Given the description of an element on the screen output the (x, y) to click on. 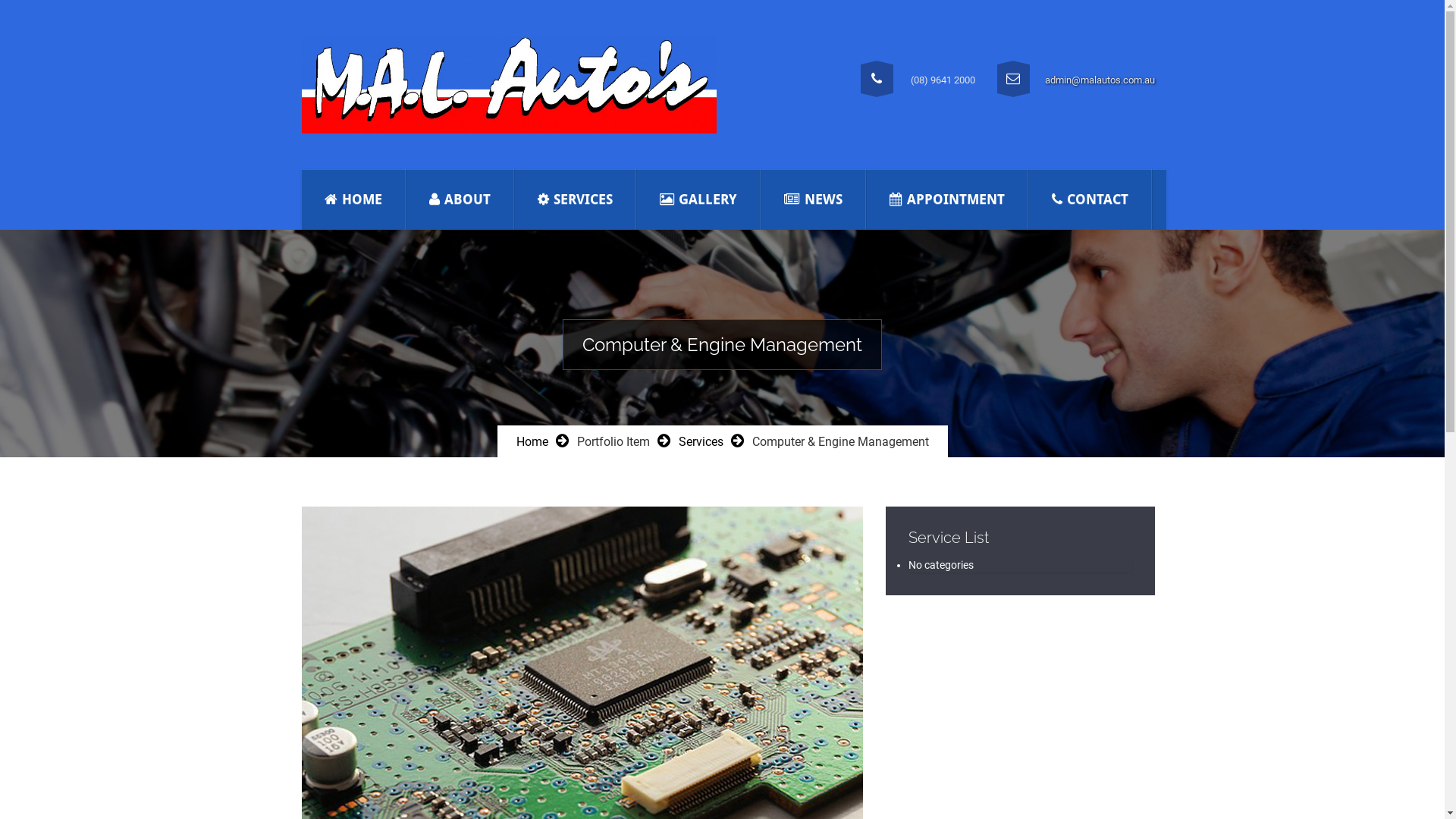
NEWS Element type: text (813, 199)
CONTACT Element type: text (1089, 199)
admin@malautos.com.au Element type: text (1099, 79)
Home Element type: text (531, 441)
SERVICES Element type: text (574, 199)
Services Element type: text (699, 441)
APPOINTMENT Element type: text (946, 199)
GALLERY Element type: text (698, 199)
ABOUT Element type: text (460, 199)
HOME Element type: text (353, 199)
